Given the description of an element on the screen output the (x, y) to click on. 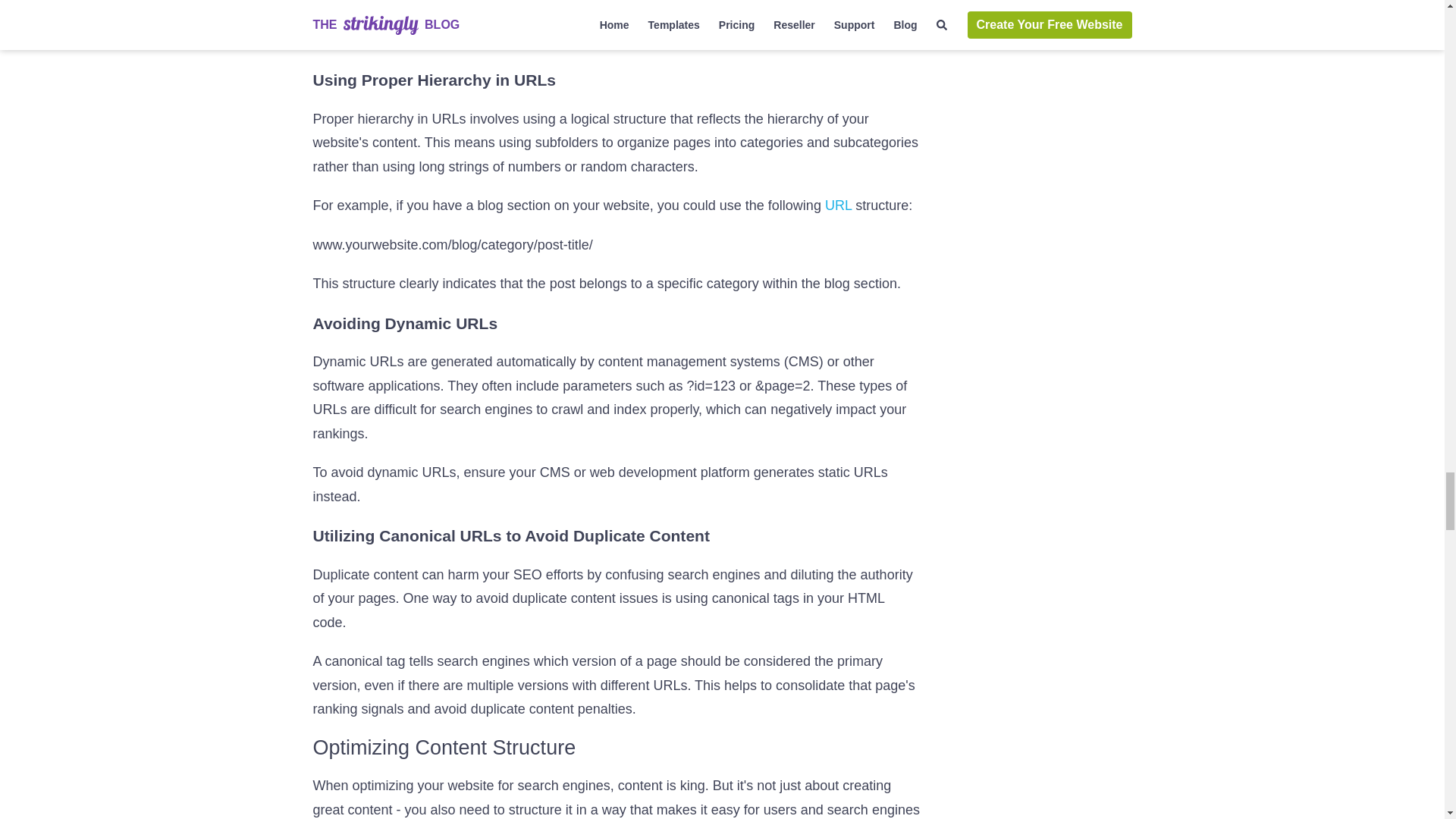
URL (838, 205)
